Given the description of an element on the screen output the (x, y) to click on. 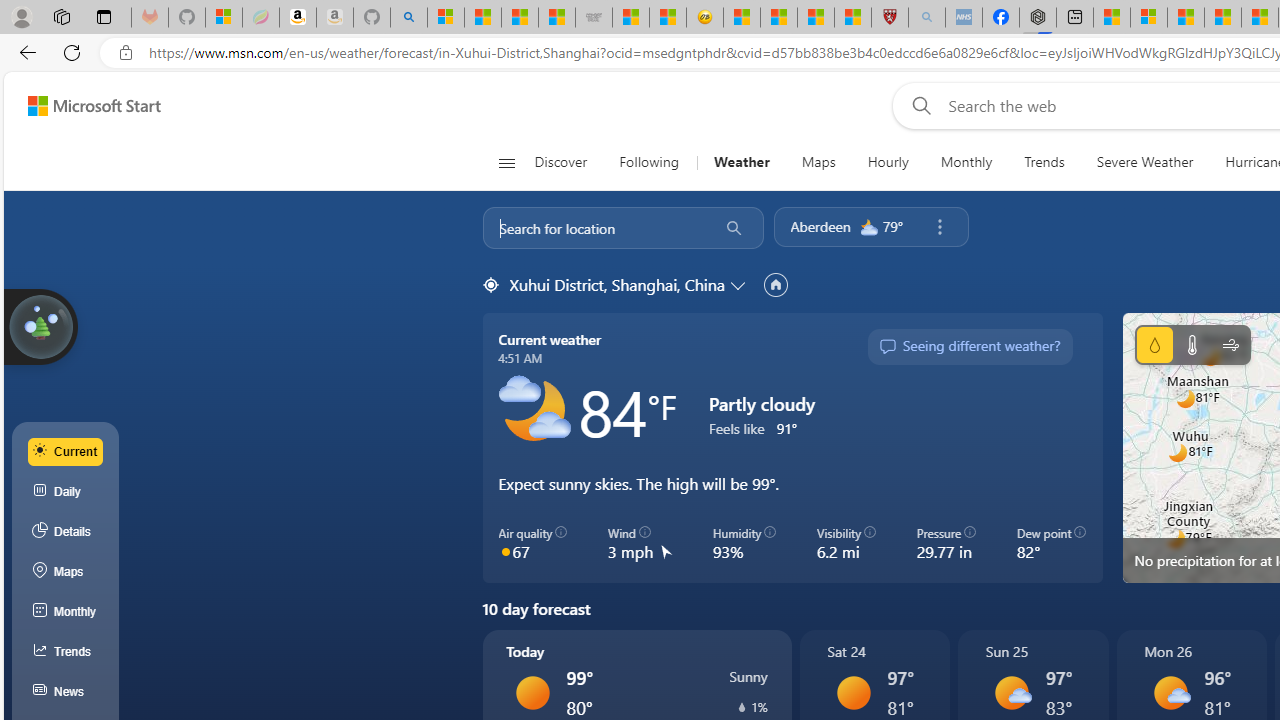
Wind 3 mph (639, 543)
Air quality 67 (532, 543)
Partly cloudy (533, 411)
Skip to footer (82, 105)
Microsoft Start (1185, 17)
Trends (65, 651)
New tab (1075, 17)
Mostly sunny (1169, 692)
Remove location (939, 227)
Following (648, 162)
